Given the description of an element on the screen output the (x, y) to click on. 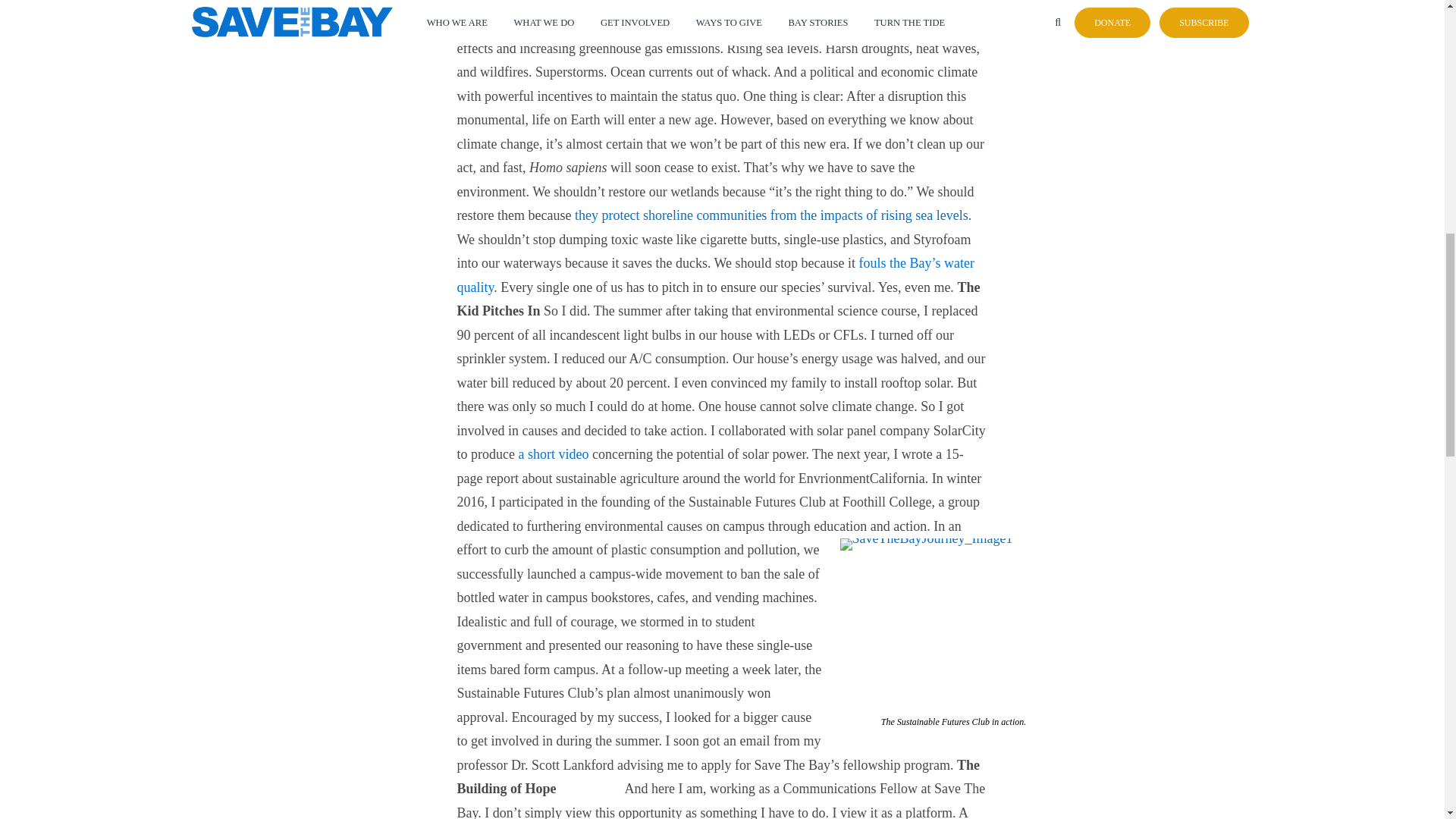
a short video (553, 453)
